Given the description of an element on the screen output the (x, y) to click on. 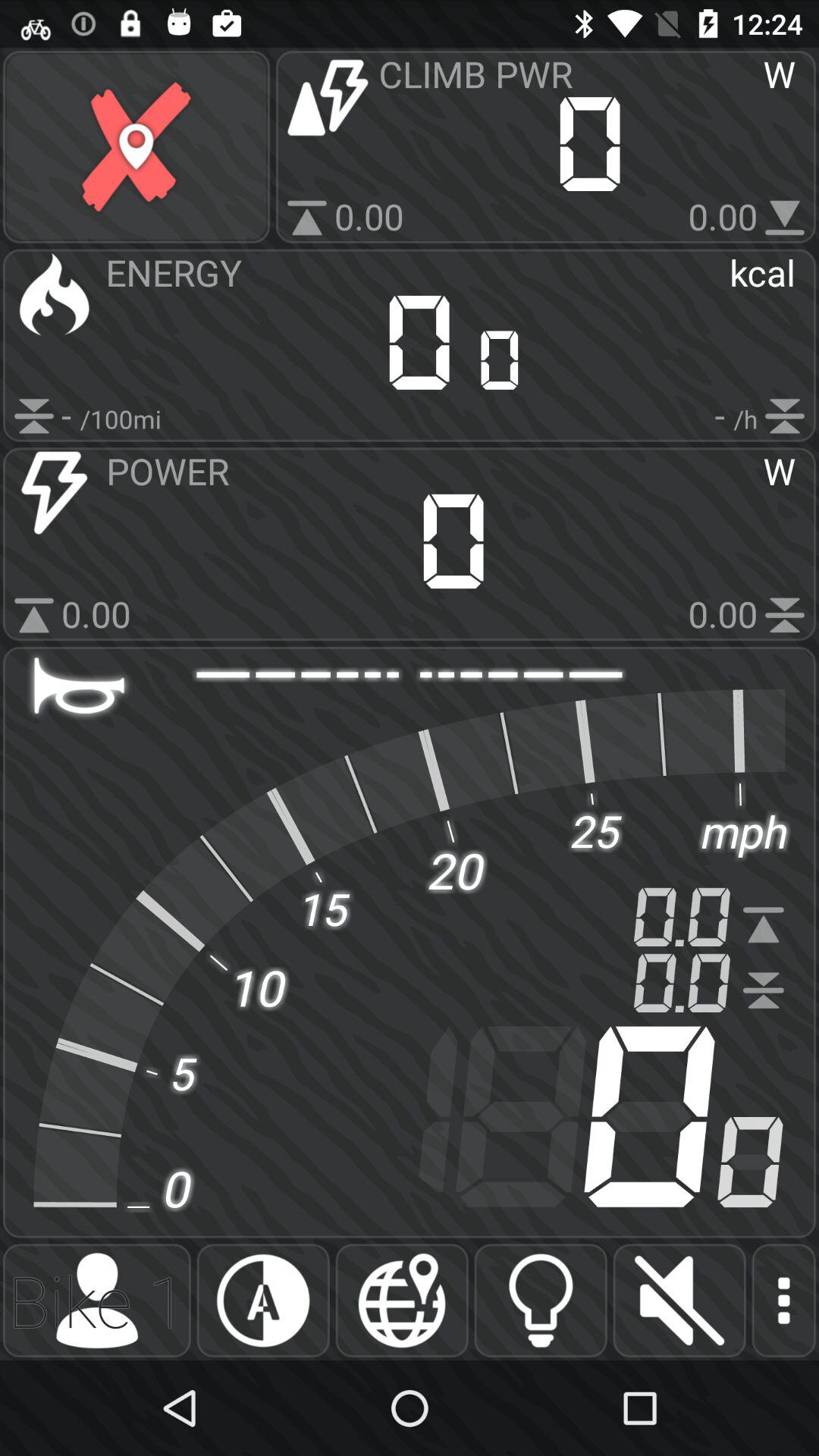
open navigation (401, 1300)
